Given the description of an element on the screen output the (x, y) to click on. 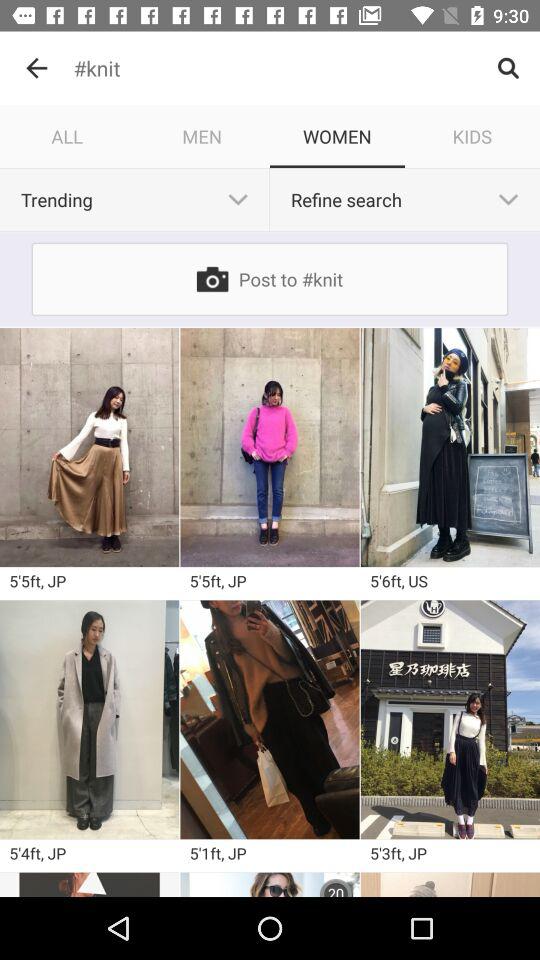
press the item above all (36, 68)
